Given the description of an element on the screen output the (x, y) to click on. 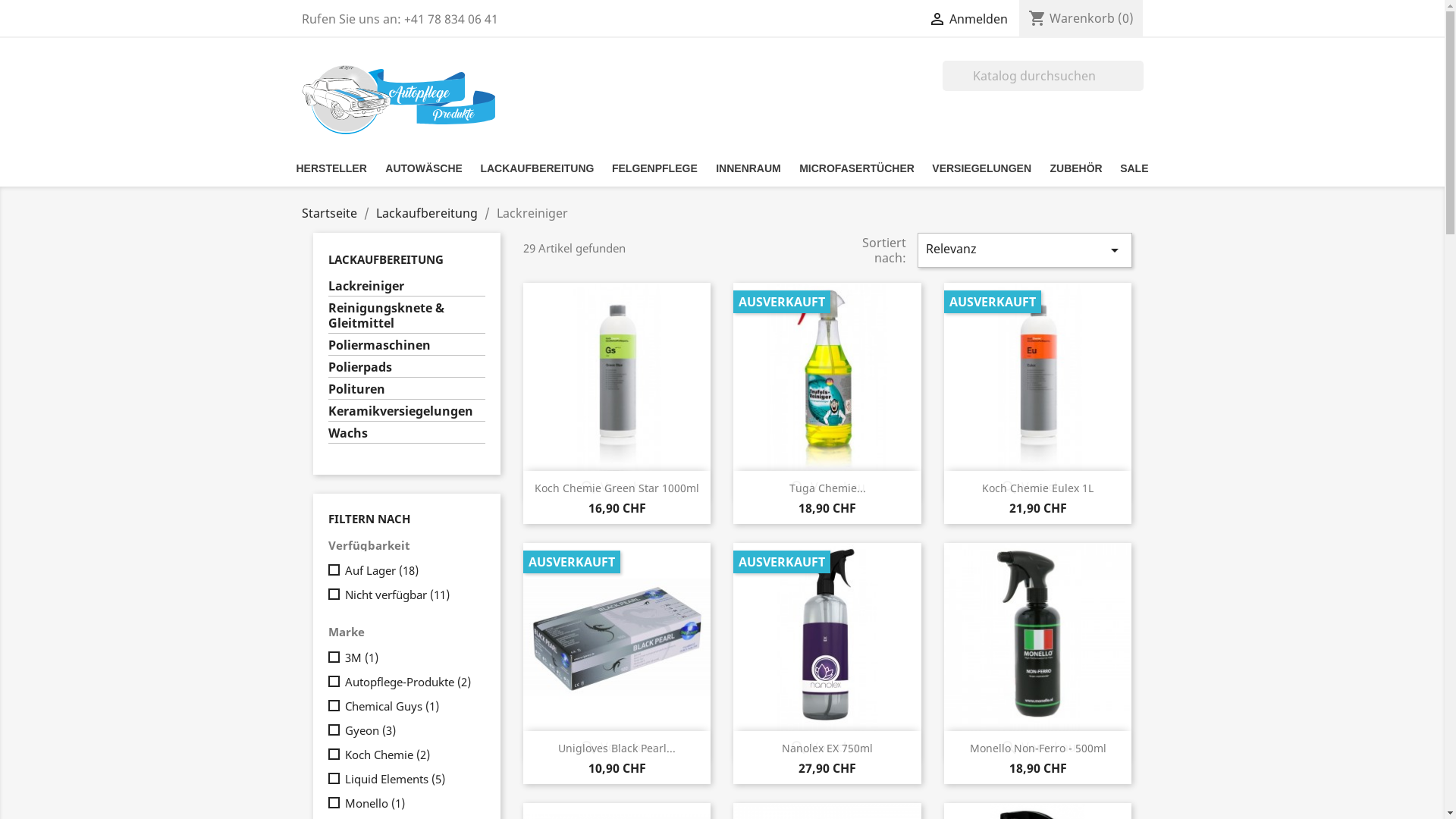
Liquid Elements (5) Element type: text (411, 778)
Unigloves Black Pearl... Element type: text (616, 747)
FELGENPFLEGE Element type: text (654, 167)
Wachs Element type: text (406, 434)
Koch Chemie Green Star 1000ml Element type: text (616, 487)
Nanolex EX 750ml Element type: text (826, 747)
Poliermaschinen Element type: text (406, 346)
Lackreiniger Element type: text (406, 287)
3M (1) Element type: text (411, 657)
Polierpads Element type: text (406, 368)
Reinigungsknete & Gleitmittel Element type: text (406, 316)
Koch Chemie Eulex 1L Element type: text (1037, 487)
Tuga Chemie... Element type: text (827, 487)
INNENRAUM Element type: text (748, 167)
SALE Element type: text (1133, 167)
Monello Non-Ferro - 500ml Element type: text (1037, 747)
Keramikversiegelungen Element type: text (406, 412)
LACKAUFBEREITUNG Element type: text (384, 258)
Chemical Guys (1) Element type: text (411, 705)
LACKAUFBEREITUNG Element type: text (536, 167)
HERSTELLER Element type: text (330, 167)
Koch Chemie (2) Element type: text (411, 754)
Gyeon (3) Element type: text (411, 729)
Polituren Element type: text (406, 390)
VERSIEGELUNGEN Element type: text (981, 167)
Autopflege-Produkte (2) Element type: text (411, 681)
Monello (1) Element type: text (411, 802)
Startseite Element type: text (329, 212)
Auf Lager (18) Element type: text (411, 569)
Lackaufbereitung Element type: text (426, 212)
